Given the description of an element on the screen output the (x, y) to click on. 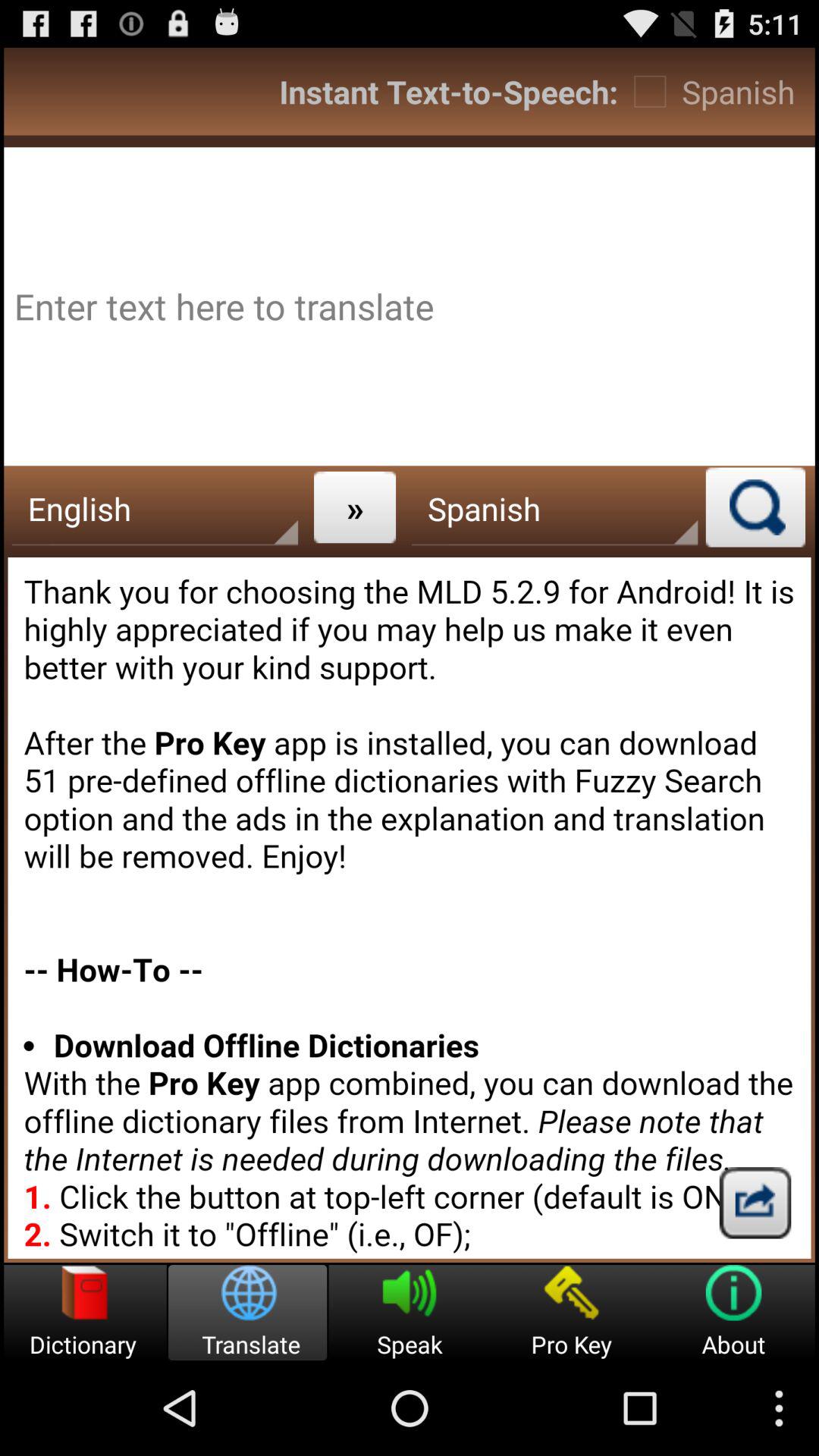
search bar (755, 507)
